Given the description of an element on the screen output the (x, y) to click on. 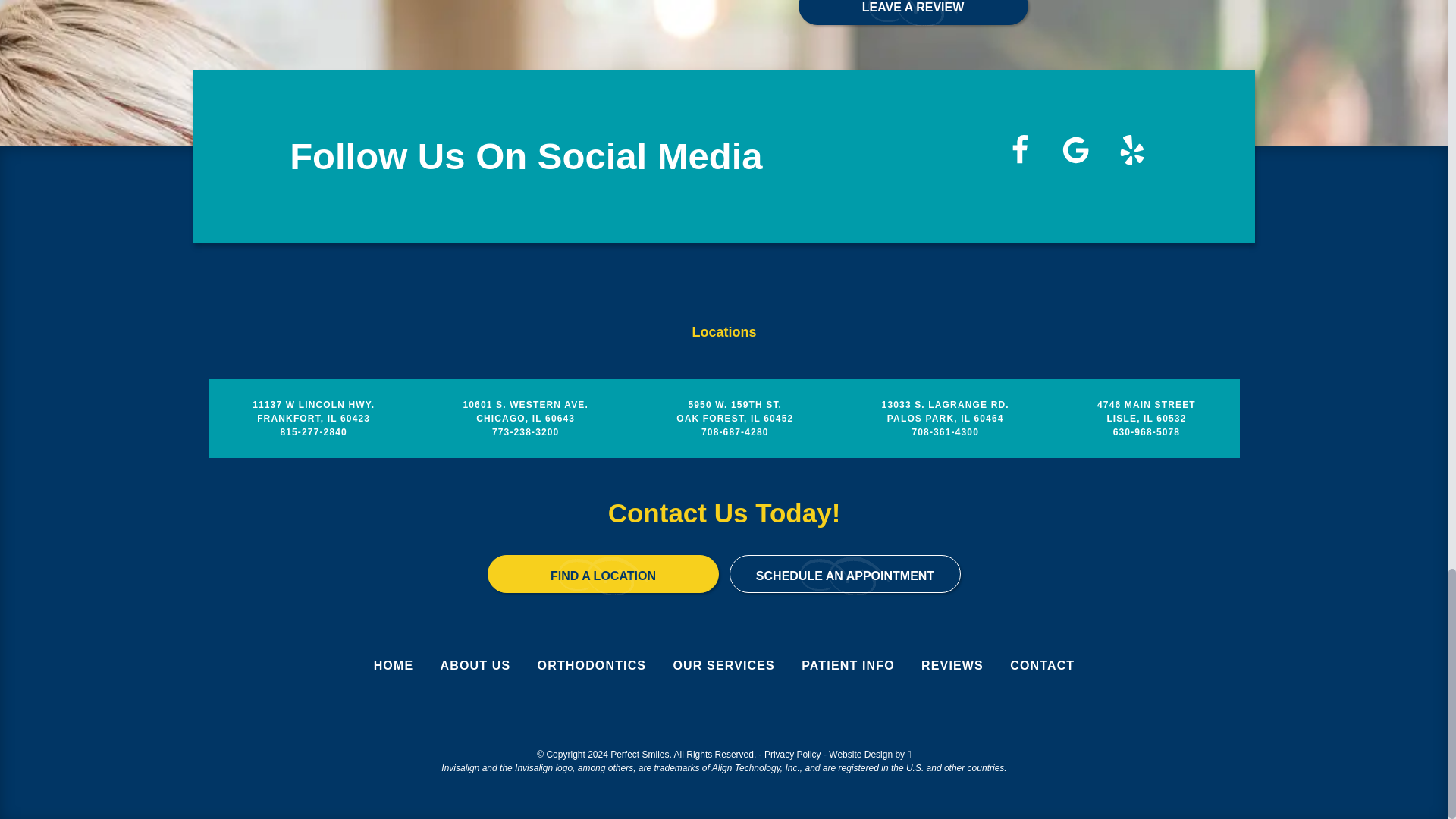
Google icon (1075, 150)
Facebook icon (1019, 150)
Yelp icon (1131, 150)
